Given the description of an element on the screen output the (x, y) to click on. 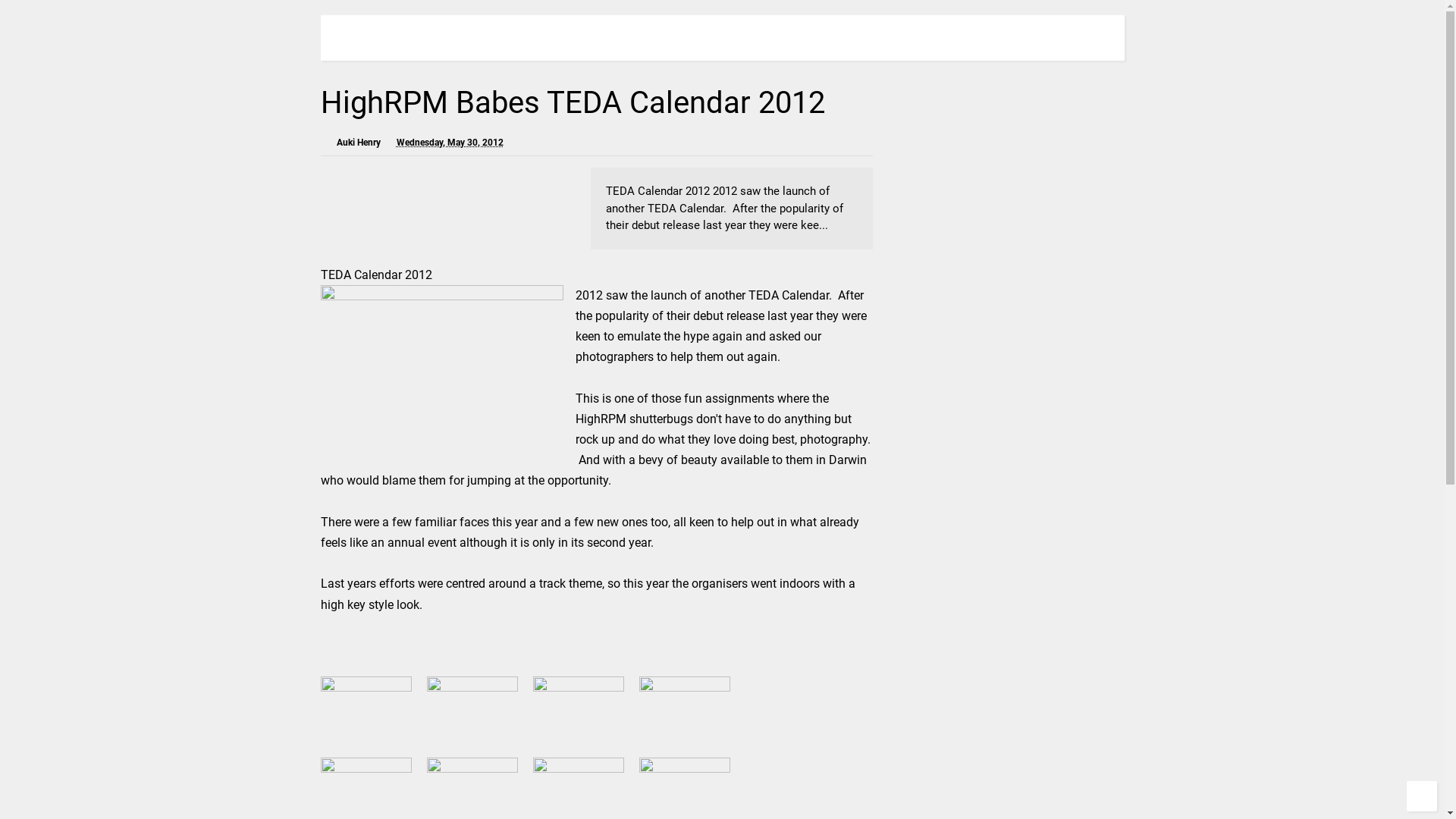
Auki Henry Element type: text (358, 139)
  Element type: text (367, 706)
Wednesday, May 30, 2012 Element type: text (448, 139)
